Given the description of an element on the screen output the (x, y) to click on. 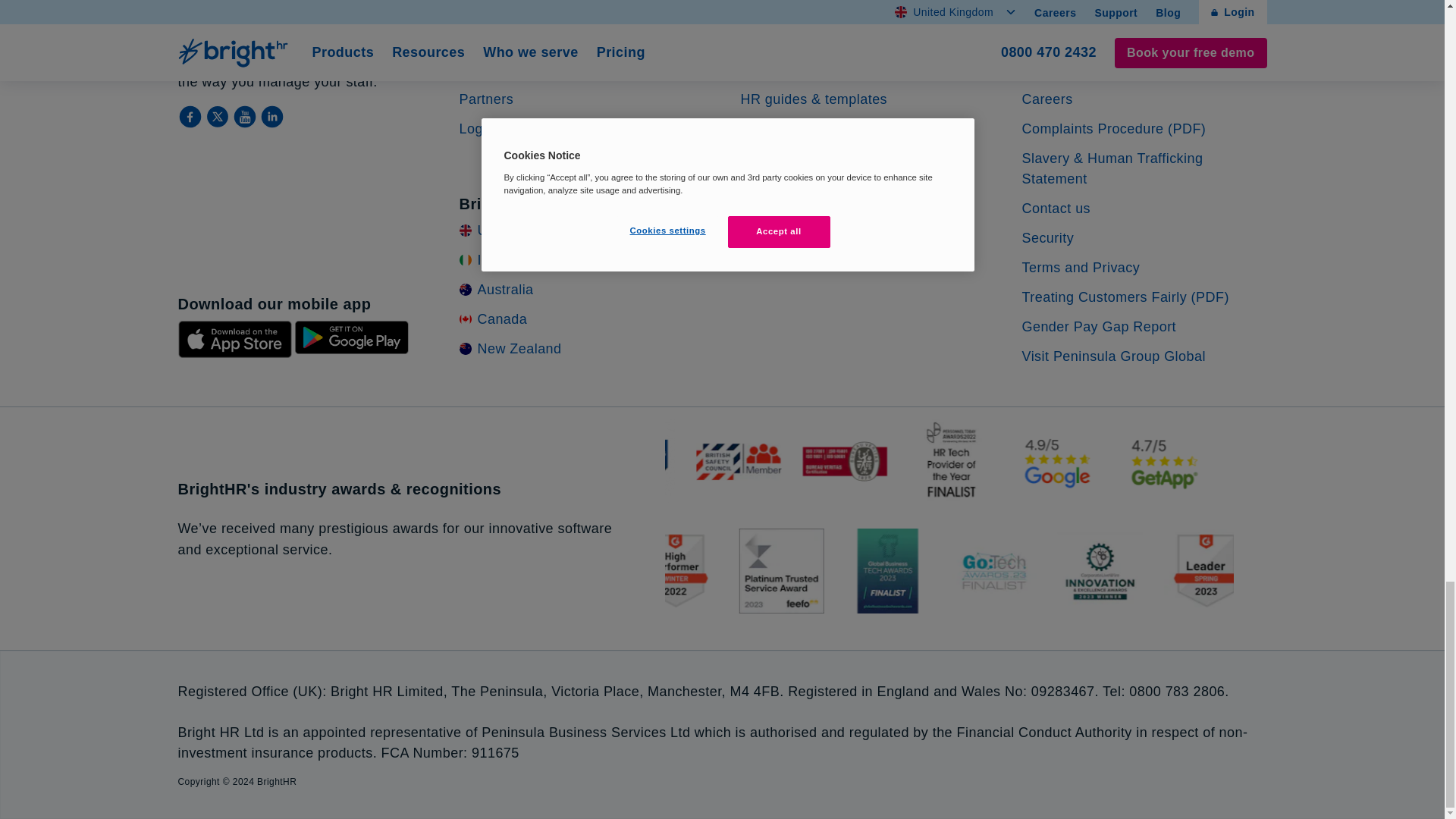
Youtube (245, 116)
LinkedIn (271, 116)
Facebook (191, 116)
Twitter (218, 116)
